Given the description of an element on the screen output the (x, y) to click on. 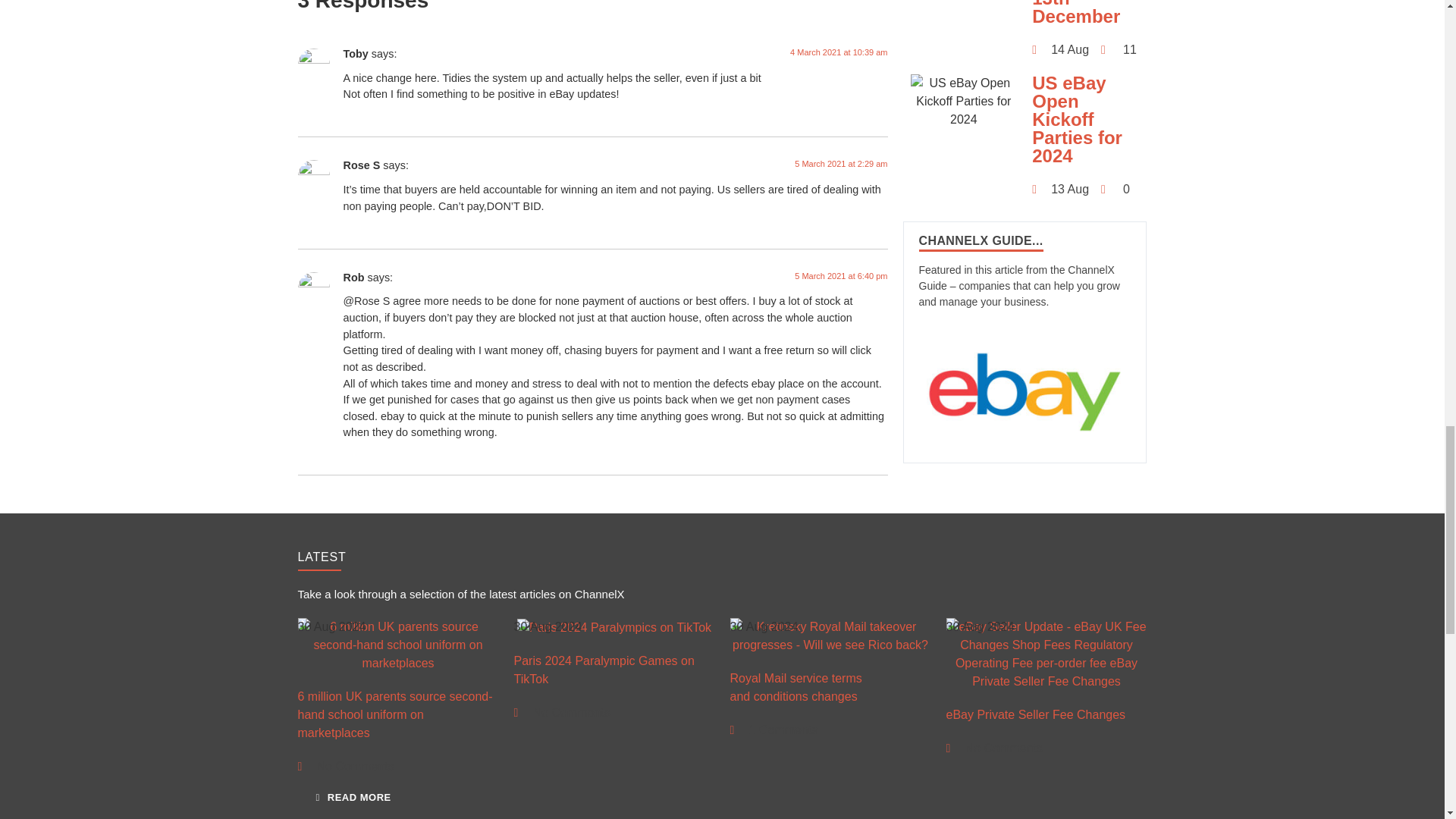
TikTok Teams-up with International Paralympic Committee (613, 628)
eBay-Seller-Release-Fees (1046, 654)
US eBay Open Kickoff Parties for 2024 (963, 101)
